Given the description of an element on the screen output the (x, y) to click on. 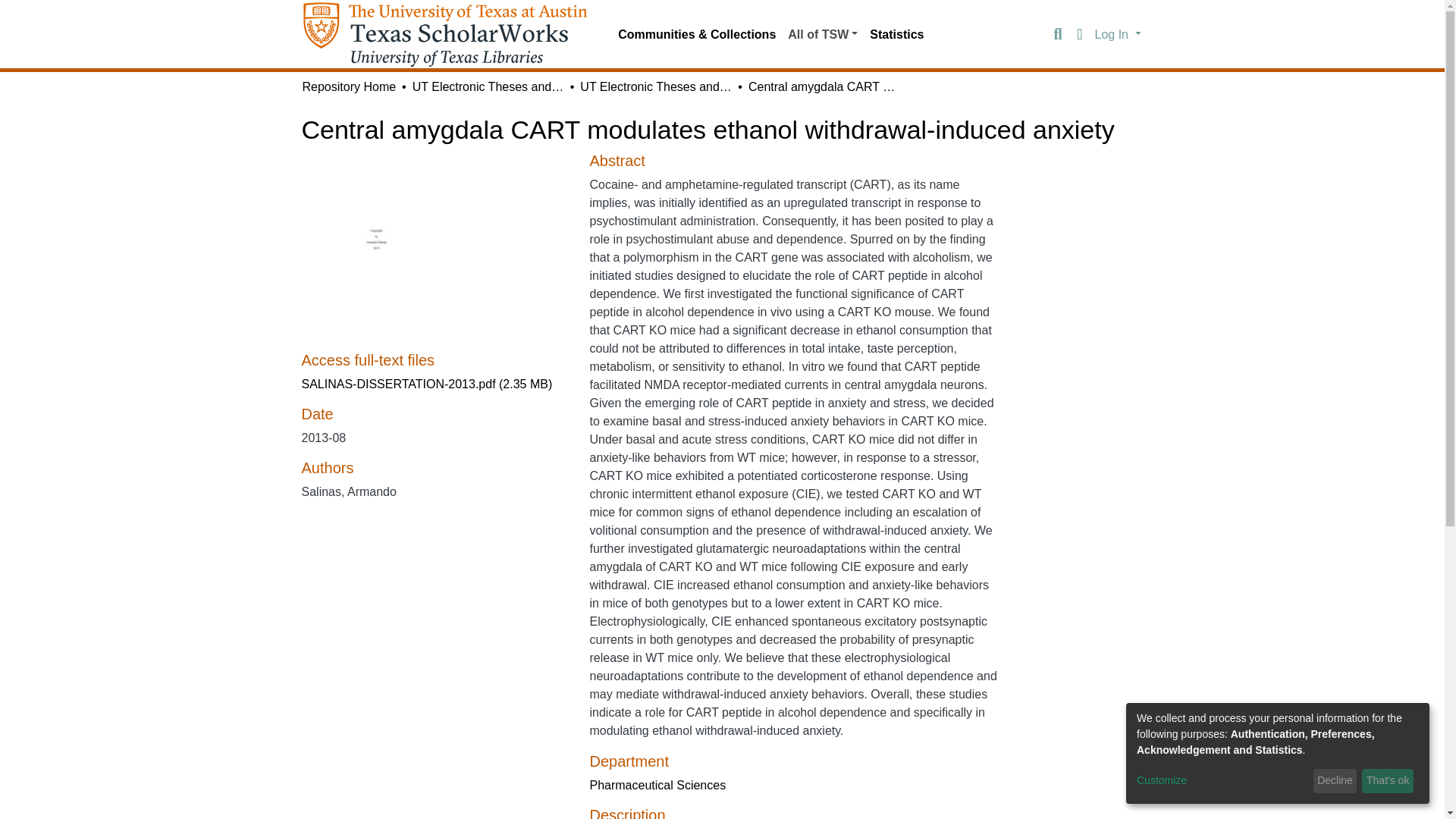
All of TSW (822, 34)
UT Electronic Theses and Dissertations (488, 86)
Repository Home (348, 86)
UT Electronic Theses and Dissertations (655, 86)
Statistics (896, 34)
Log In (1117, 33)
Statistics (896, 34)
Language switch (1079, 34)
Pharmaceutical Sciences (657, 784)
Search (1057, 34)
